Given the description of an element on the screen output the (x, y) to click on. 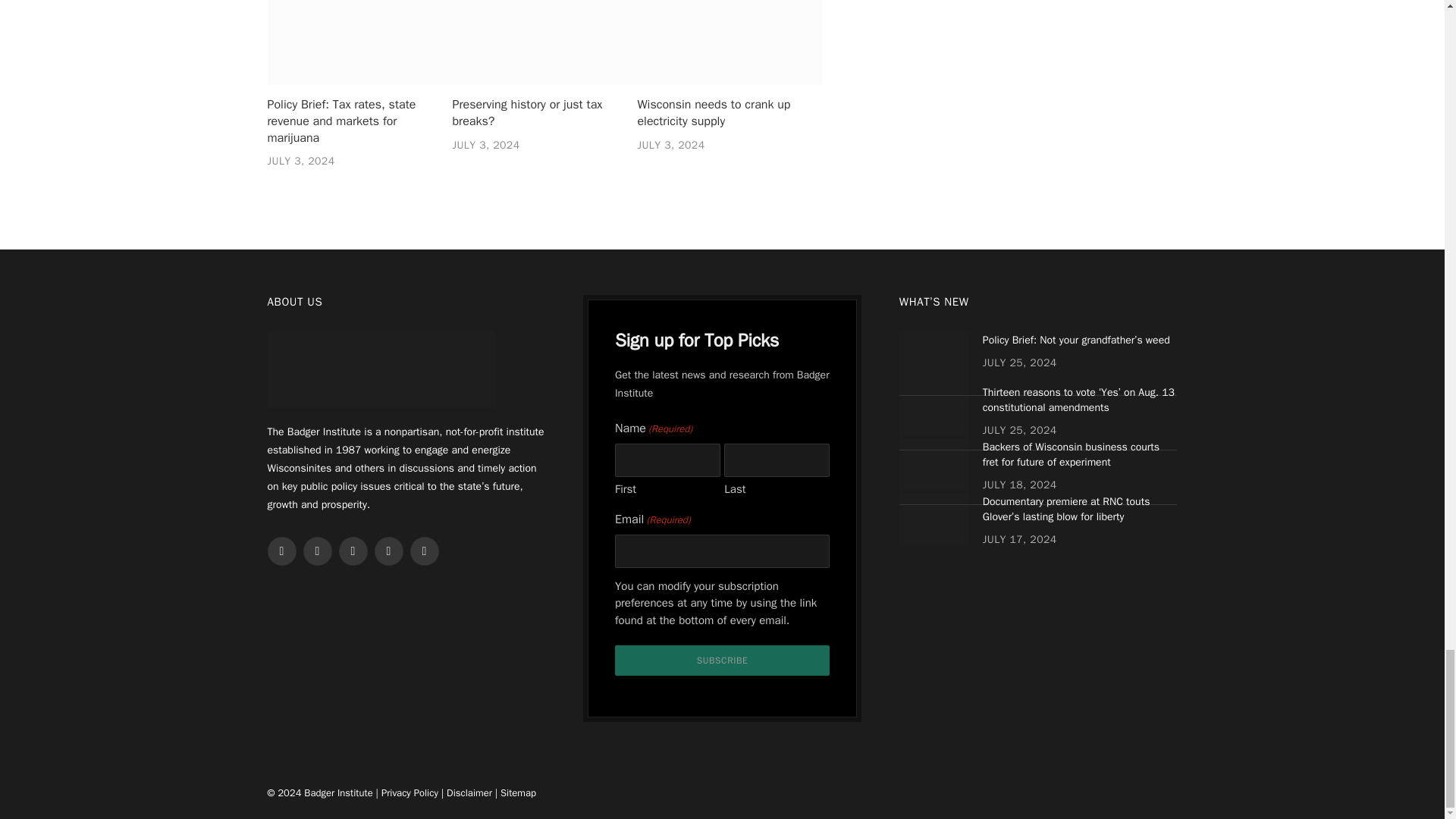
Subscribe (721, 660)
